Given the description of an element on the screen output the (x, y) to click on. 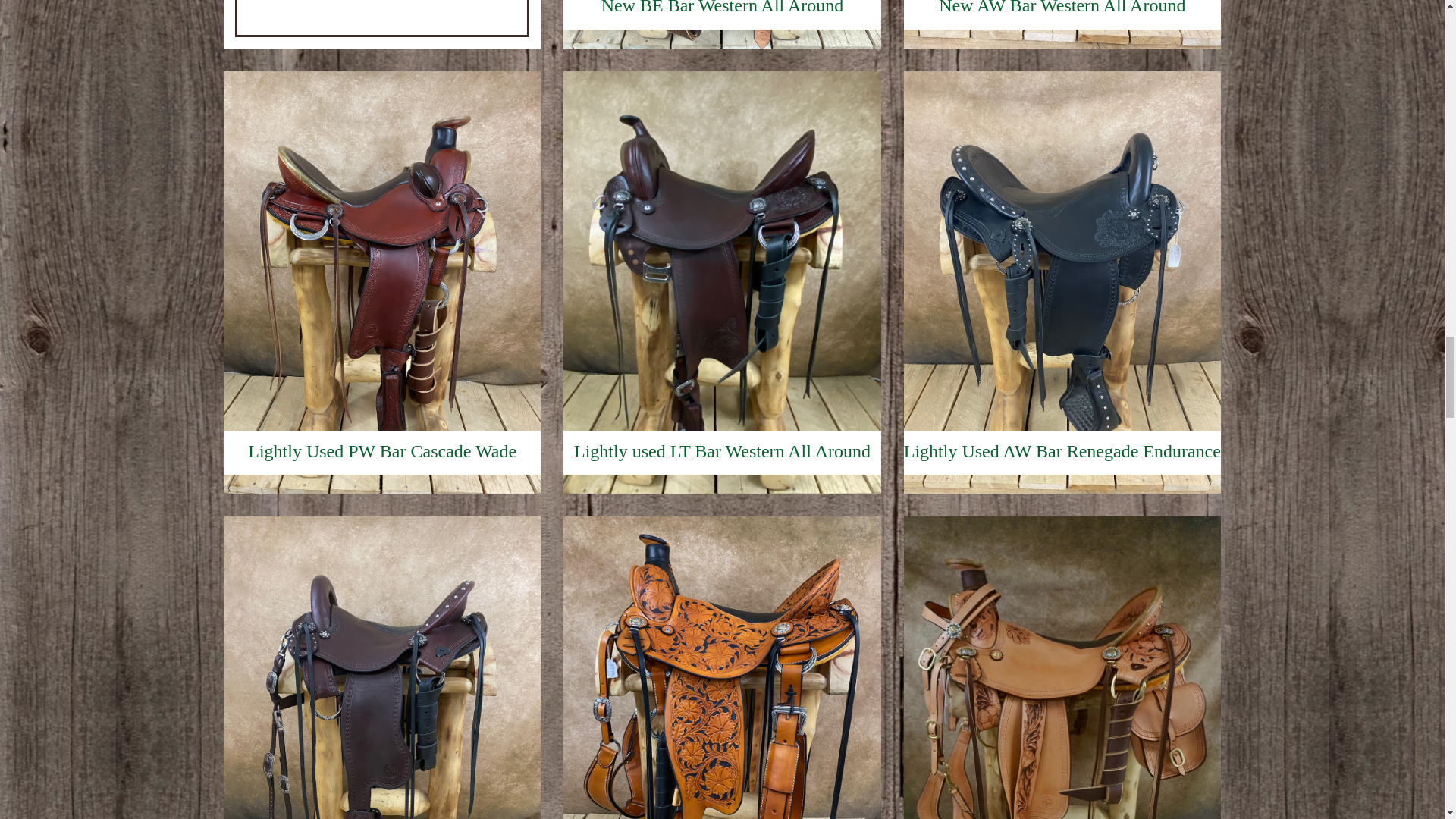
New AW Bar Western All Around (1062, 37)
Lightly Used AW Bar Renegade Endurance (1062, 482)
Lightly Used PW Bar Cascade Wade (382, 482)
Lightly used LT Bar Western All Around (721, 482)
New BE Bar Western All Around (721, 37)
